Given the description of an element on the screen output the (x, y) to click on. 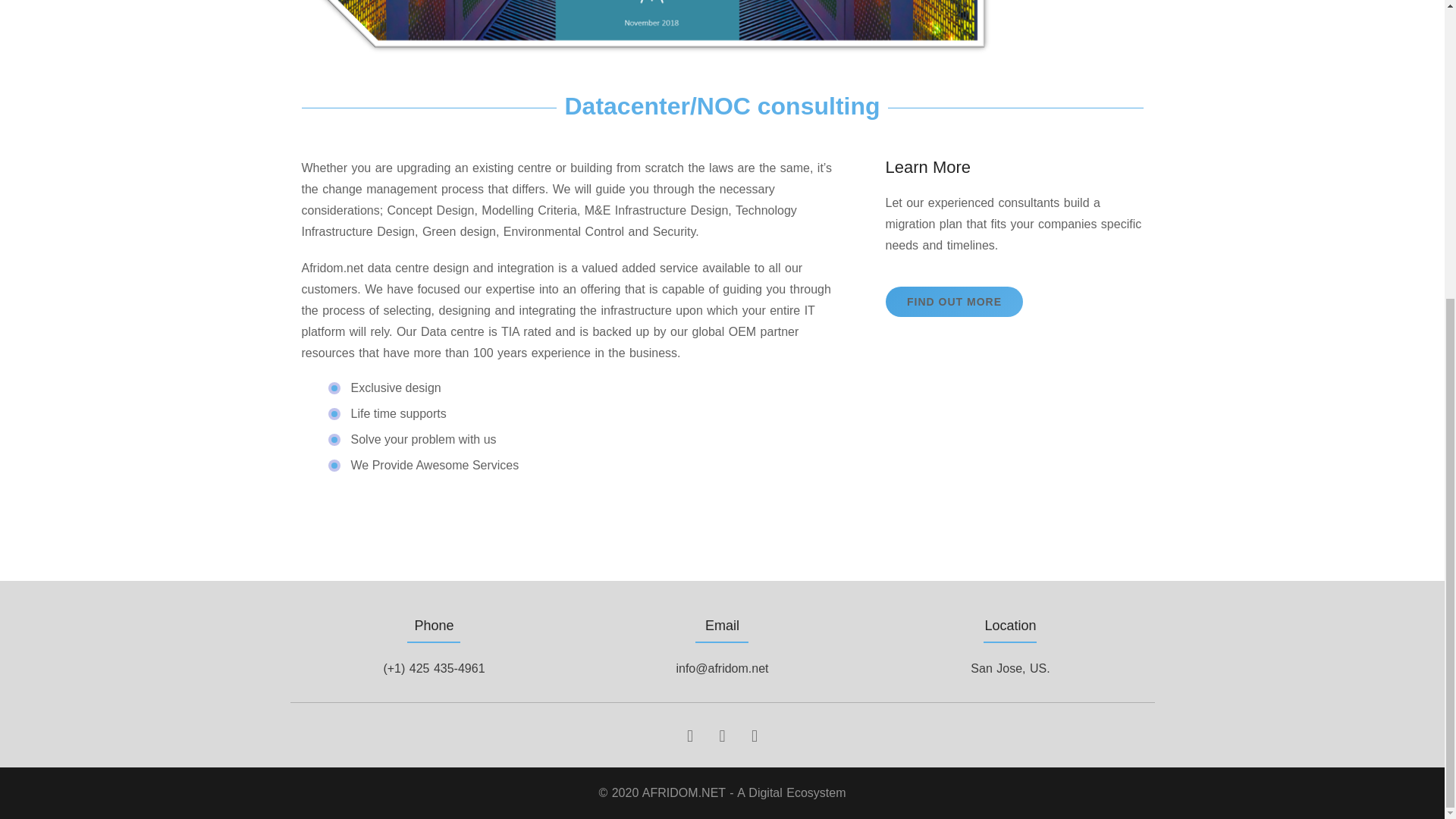
FIND OUT MORE (954, 301)
